Given the description of an element on the screen output the (x, y) to click on. 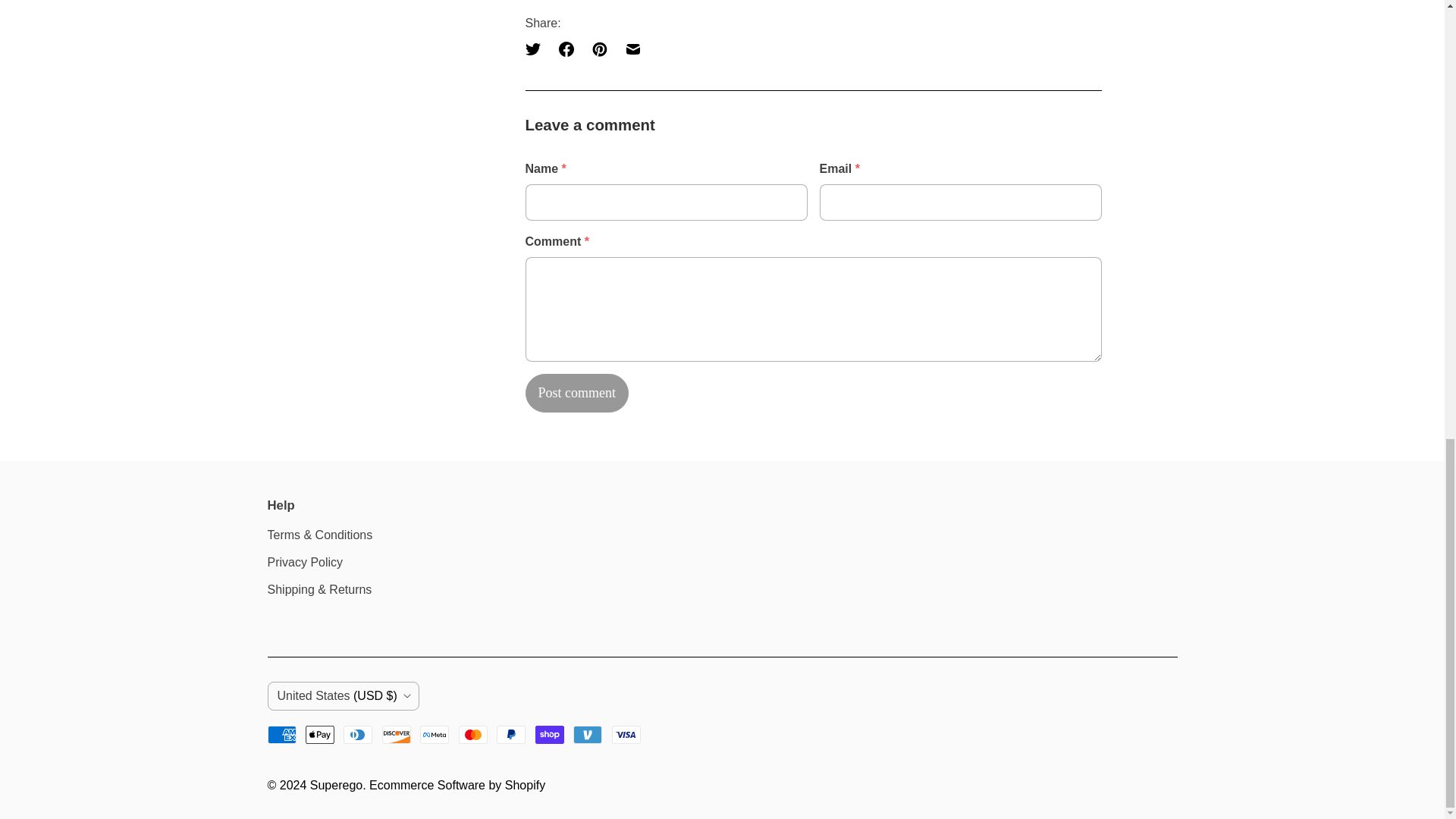
American Express (280, 734)
PayPal (510, 734)
Email this to a friend (632, 49)
Shop Pay (549, 734)
Visa (625, 734)
Discover (395, 734)
Diners Club (357, 734)
Share this on Facebook (565, 49)
Mastercard (472, 734)
Apple Pay (319, 734)
